Given the description of an element on the screen output the (x, y) to click on. 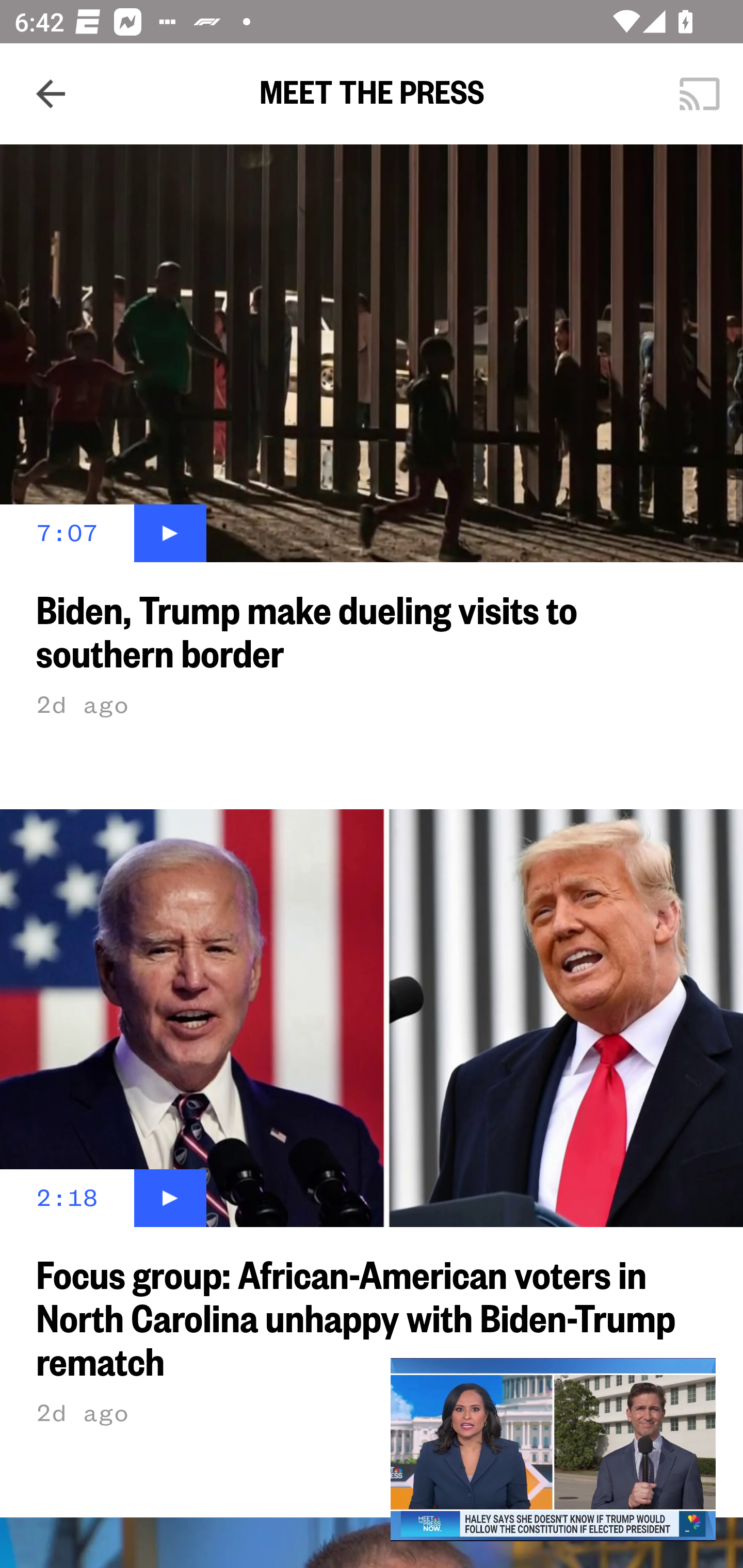
Navigate up (50, 93)
Cast. Disconnected (699, 93)
